Given the description of an element on the screen output the (x, y) to click on. 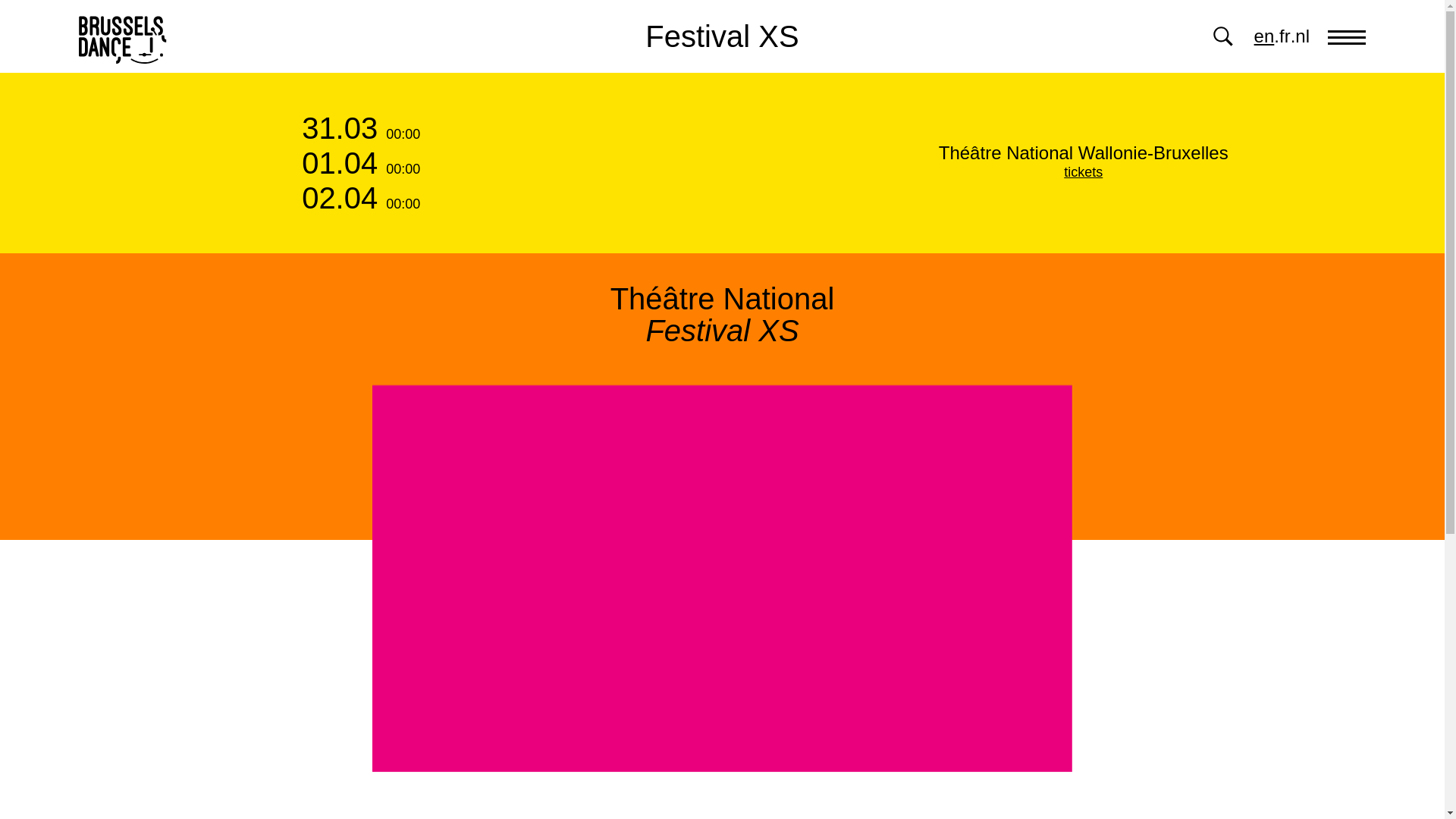
Menu (1346, 36)
nl (1301, 35)
tickets (1083, 171)
Brussels Dance! (122, 36)
Search (1222, 36)
Brussels Dance! (122, 36)
Menu (1346, 36)
en (1264, 35)
fr (1284, 35)
Search (1222, 36)
